Given the description of an element on the screen output the (x, y) to click on. 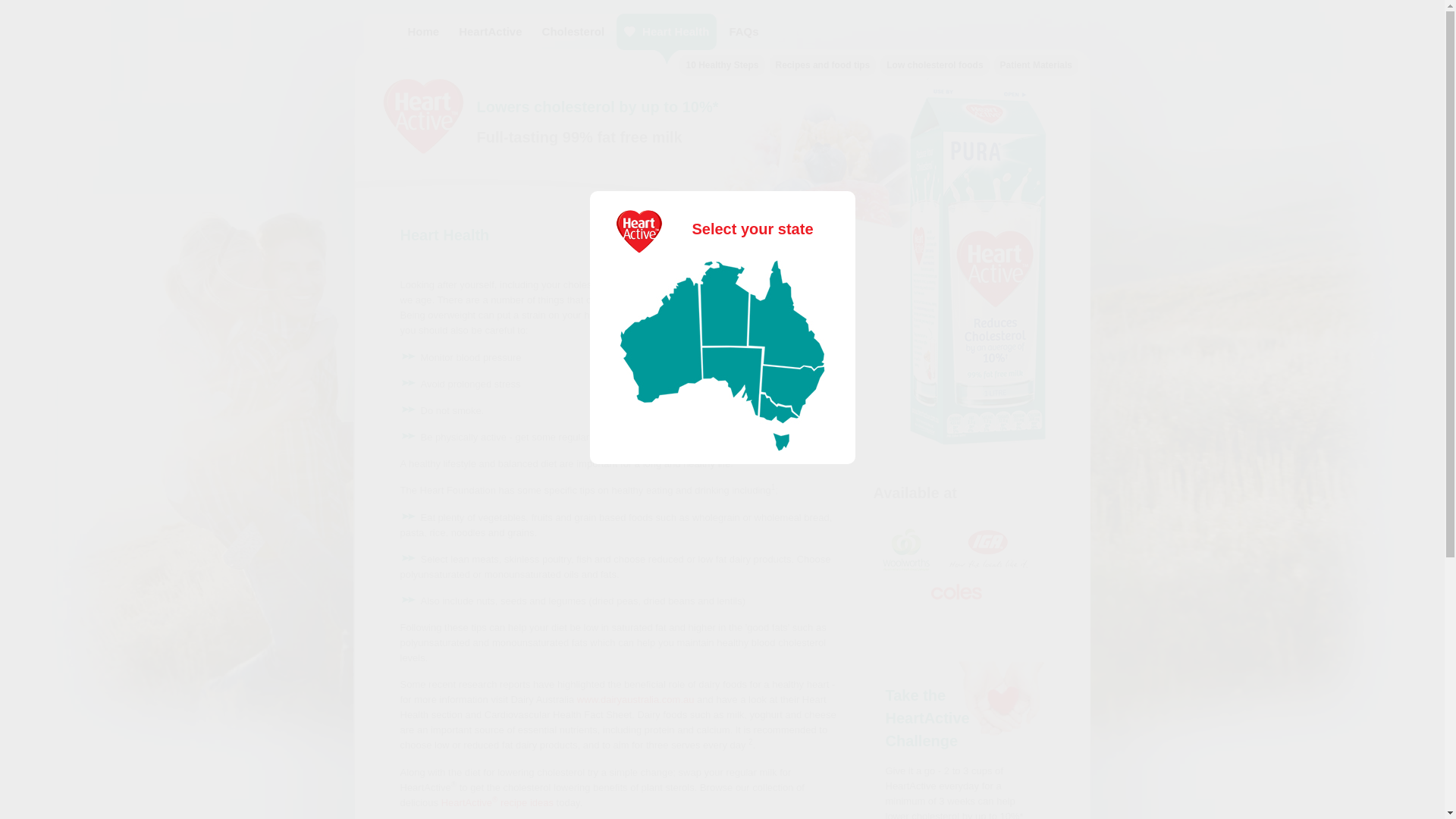
Recipes and food tips Element type: text (822, 64)
10 Healthy Steps Element type: text (721, 64)
FAQs Element type: text (743, 31)
Patient Materials Element type: text (1036, 64)
Heart Health Element type: text (666, 31)
HeartActive Element type: text (490, 31)
Low cholesterol foods Element type: text (934, 64)
Cholesterol Element type: text (573, 31)
www.dairyaustralia.com.au Element type: text (635, 699)
Home Element type: text (423, 31)
